Given the description of an element on the screen output the (x, y) to click on. 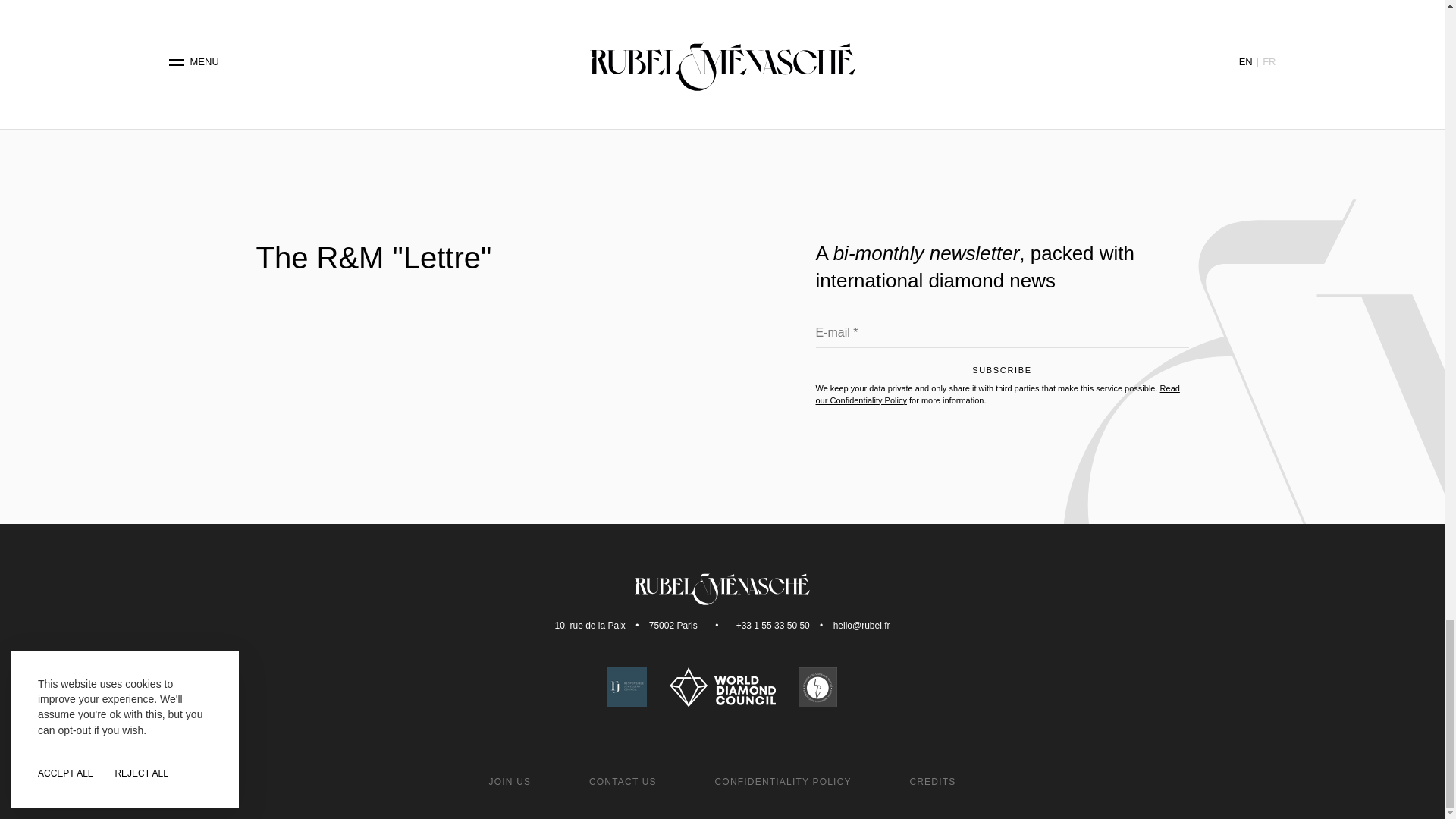
CONFIDENTIALITY POLICY (782, 781)
CREDITS (931, 781)
E-mail (1002, 336)
Subscribe (1002, 374)
Read our Confidentiality Policy (997, 394)
JOIN US (509, 781)
Subscribe (1002, 374)
CONTACT US (622, 781)
